Given the description of an element on the screen output the (x, y) to click on. 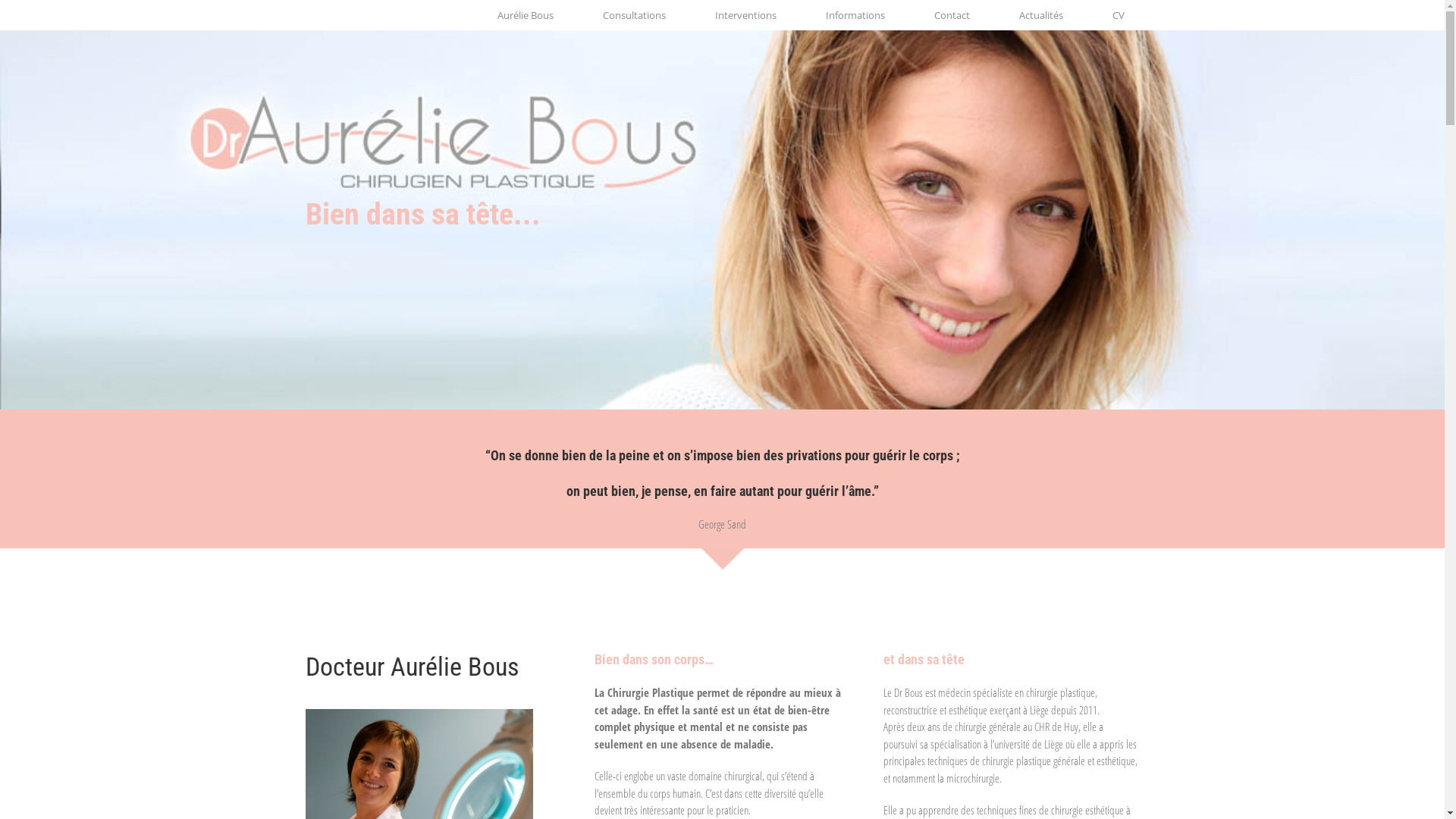
Contact Element type: text (952, 15)
CV Element type: text (1117, 15)
Interventions Element type: text (744, 15)
Informations Element type: text (854, 15)
Consultations Element type: text (633, 15)
